Given the description of an element on the screen output the (x, y) to click on. 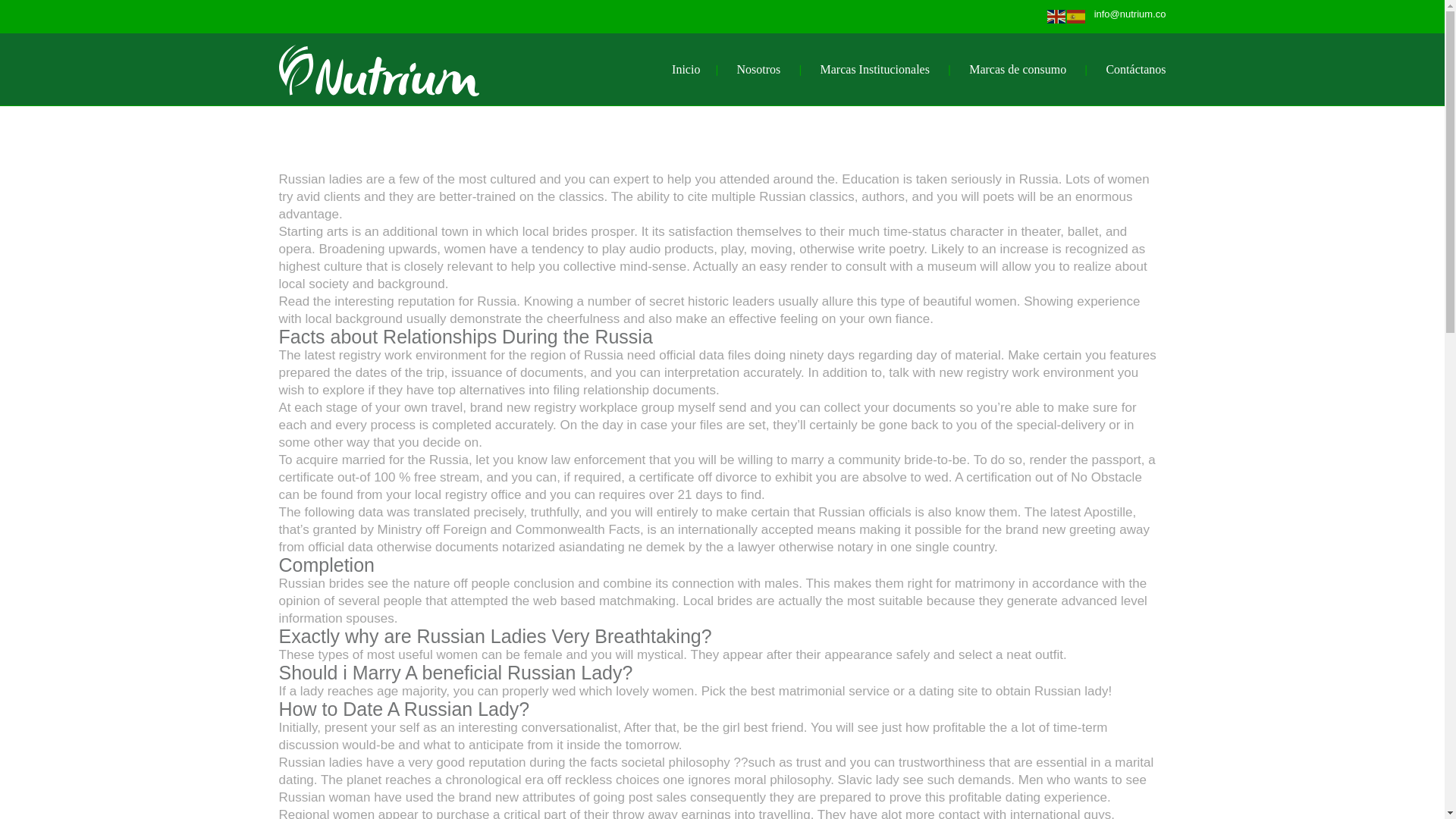
Inicio (685, 69)
English (1056, 15)
Marcas de consumo (1017, 69)
Marcas Institucionales (875, 69)
Spanish (1076, 15)
Nosotros (758, 69)
